Given the description of an element on the screen output the (x, y) to click on. 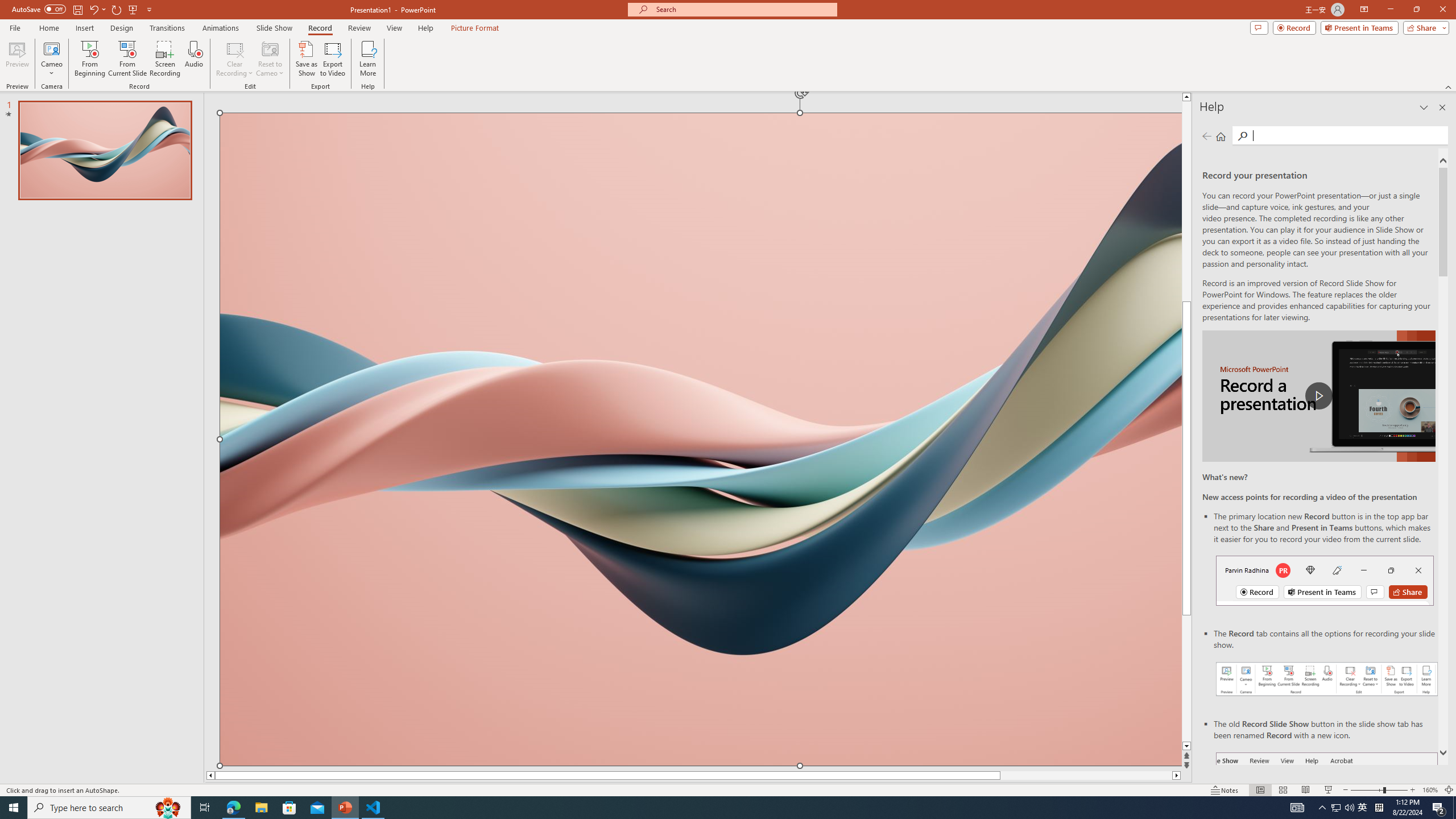
Search (1347, 135)
Close pane (1441, 107)
Slide (104, 150)
Close (1442, 9)
Home (1220, 136)
File Tab (15, 27)
Line down (1186, 746)
Cameo (51, 48)
Learn More (368, 58)
More Options (51, 68)
Class: MsoCommandBar (728, 789)
Normal (1260, 790)
Task Pane Options (1423, 107)
Picture Format (475, 28)
